Given the description of an element on the screen output the (x, y) to click on. 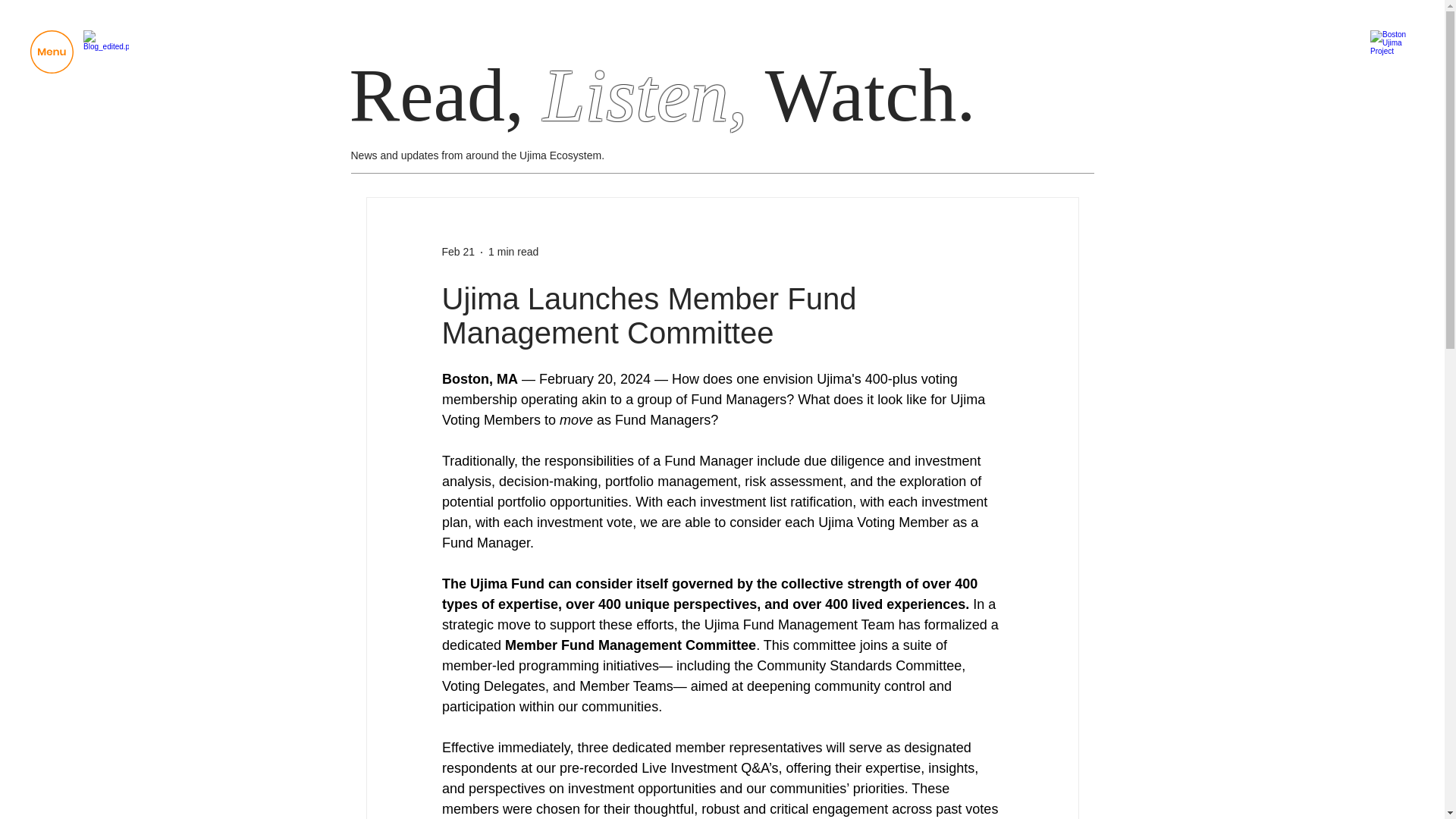
1 min read (512, 251)
Read, Listen, Watch. (662, 93)
Feb 21 (457, 251)
